Given the description of an element on the screen output the (x, y) to click on. 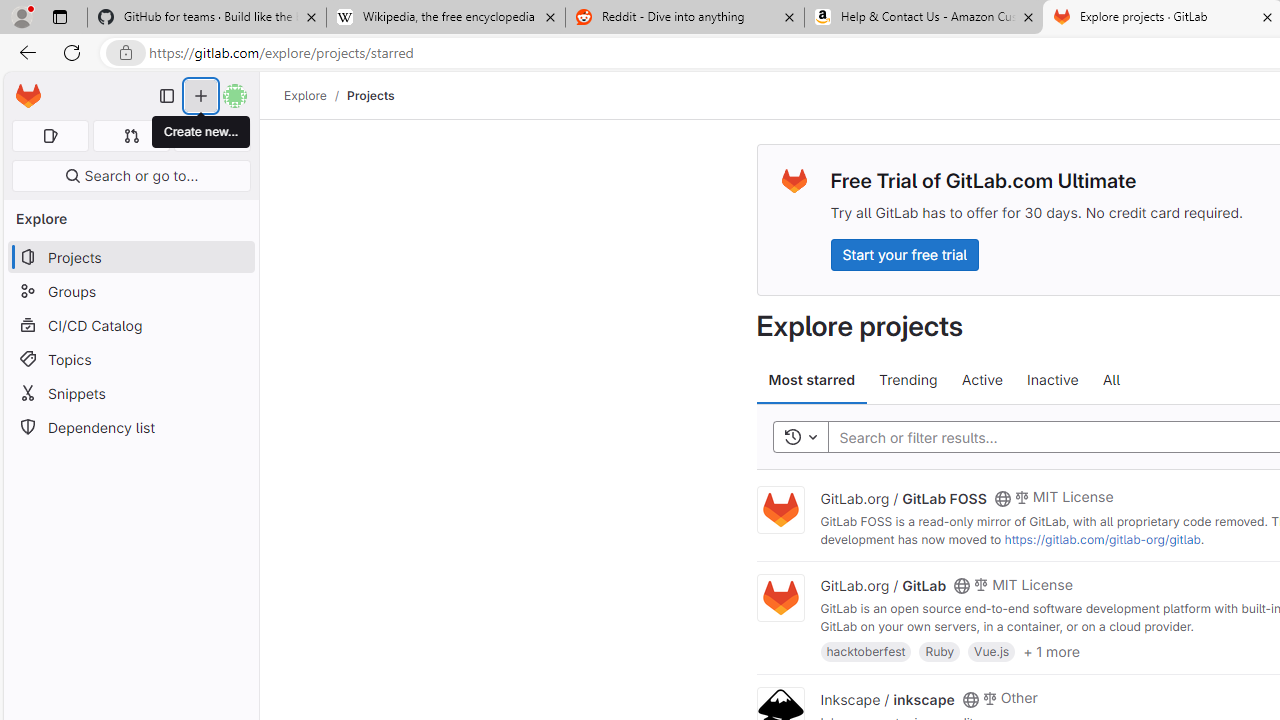
Topics (130, 358)
Assigned issues 0 (50, 136)
Inactive (1052, 379)
Dependency list (130, 427)
To-Do list 0 (212, 136)
Help & Contact Us - Amazon Customer Service (924, 17)
Topics (130, 358)
Class: project (780, 597)
All (1111, 379)
Groups (130, 291)
Reddit - Dive into anything (684, 17)
Projects (370, 95)
